Given the description of an element on the screen output the (x, y) to click on. 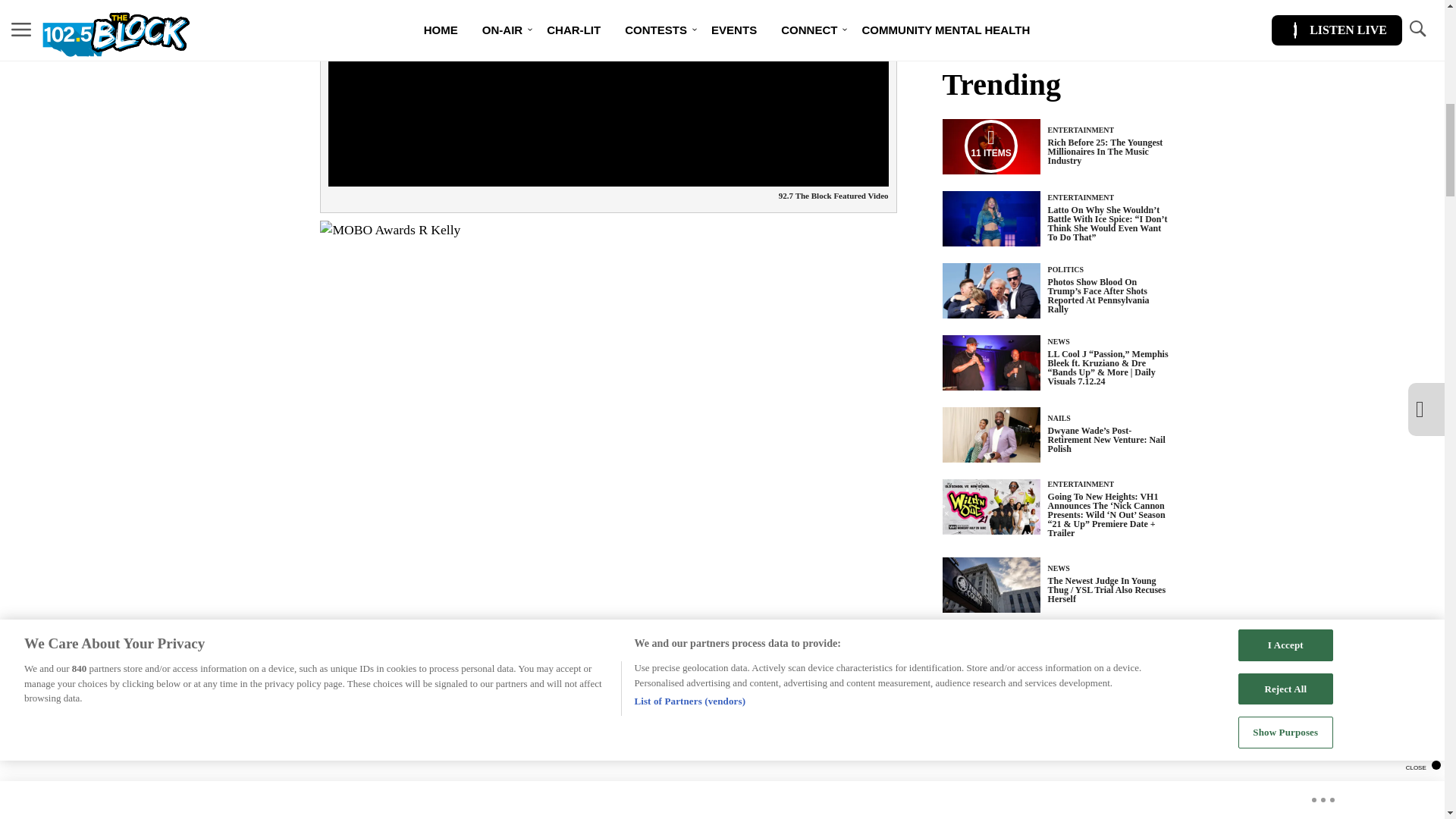
Media Playlist (990, 145)
